Given the description of an element on the screen output the (x, y) to click on. 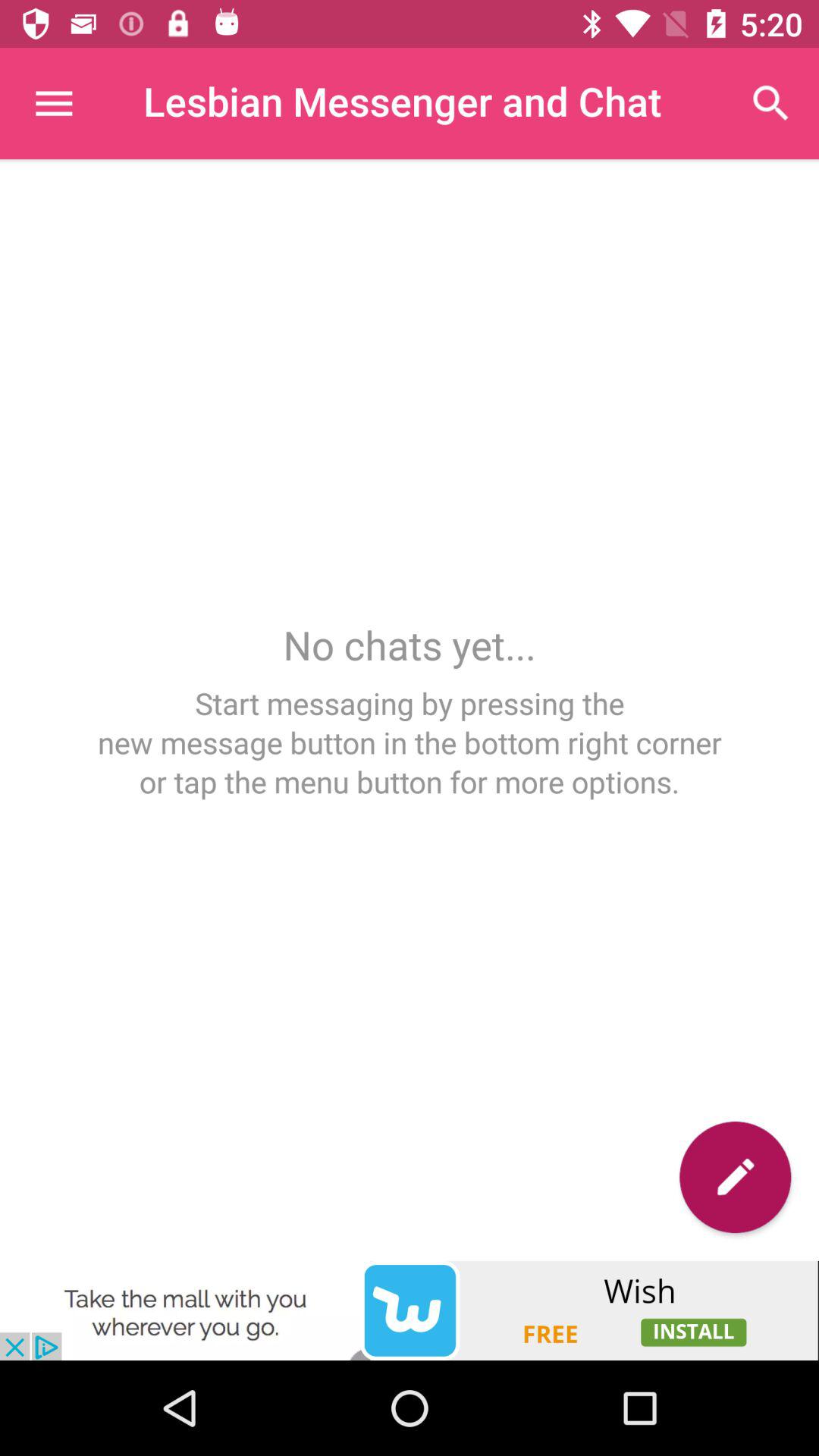
open advertisement (409, 1310)
